Given the description of an element on the screen output the (x, y) to click on. 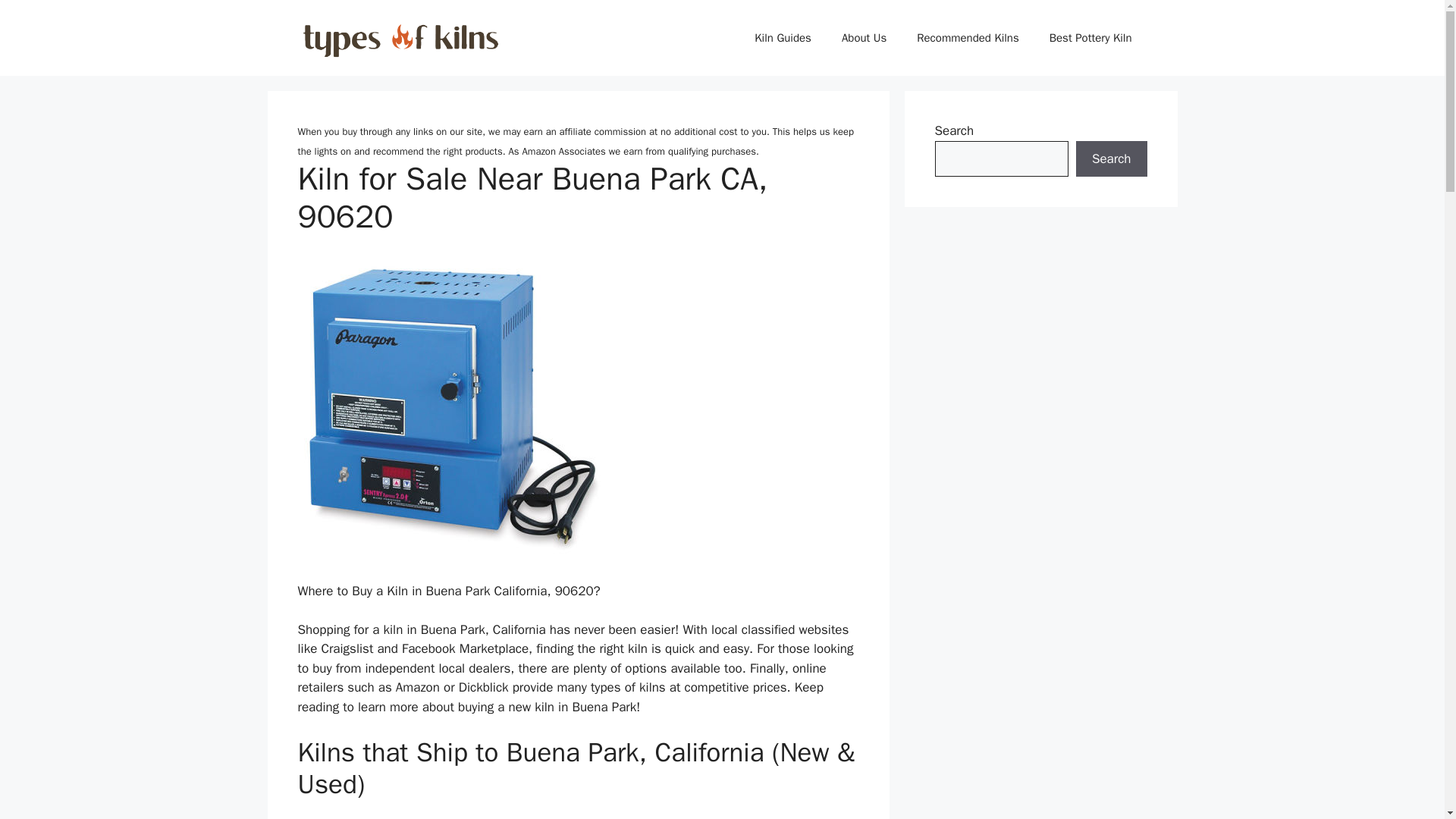
Best Pottery Kiln (1090, 37)
Recommended Kilns (967, 37)
About Us (864, 37)
Search (1111, 158)
Kiln Guides (783, 37)
